Given the description of an element on the screen output the (x, y) to click on. 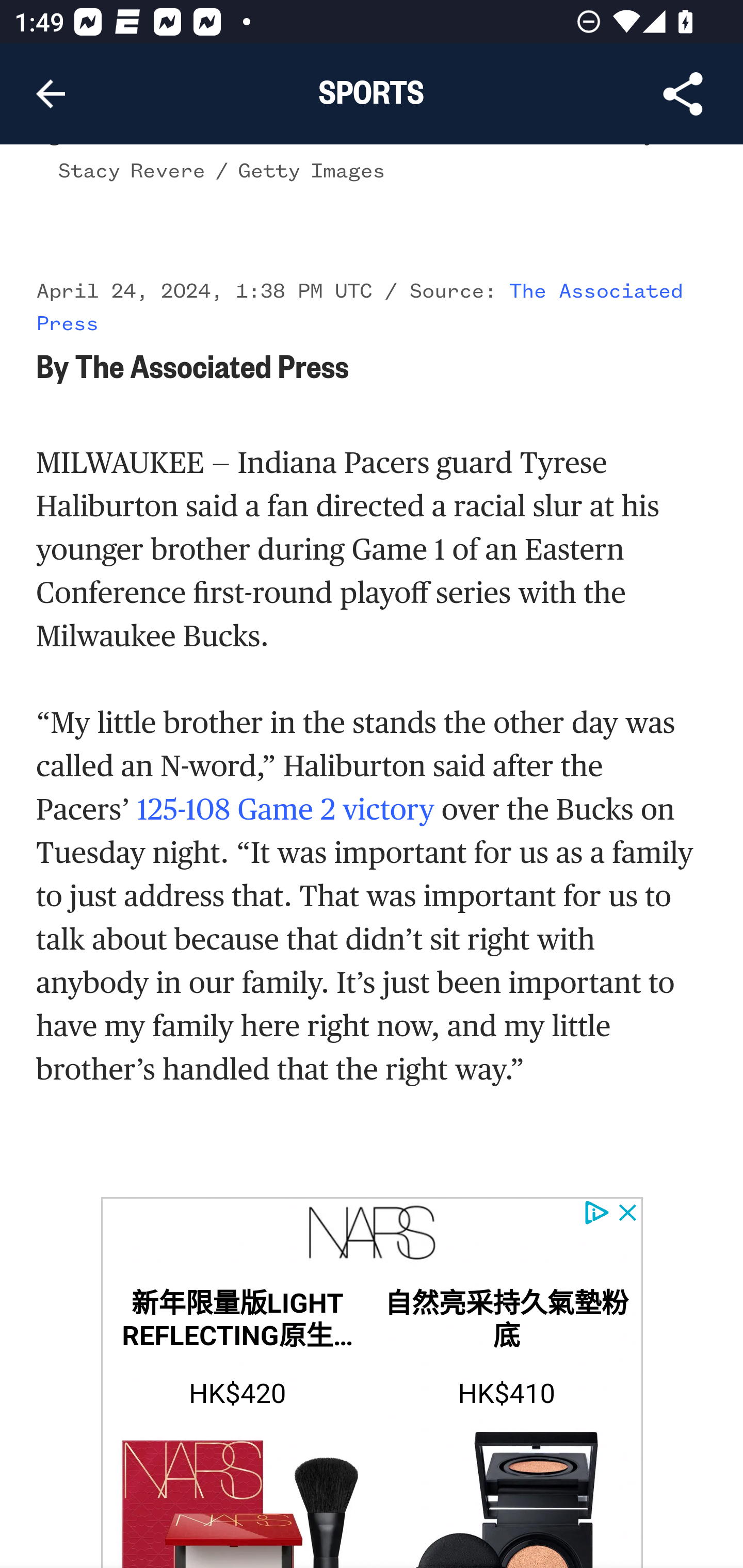
Navigate up (50, 93)
Share Article, button (683, 94)
The Associated Press (360, 307)
125-108 Game 2 victory (284, 808)
   (371, 1234)
privacy_small (595, 1212)
close_button (627, 1212)
 自然亮采持久氣墊粉底 HK$410  自然亮采持久氣墊粉底    HK$410 (506, 1419)
